Given the description of an element on the screen output the (x, y) to click on. 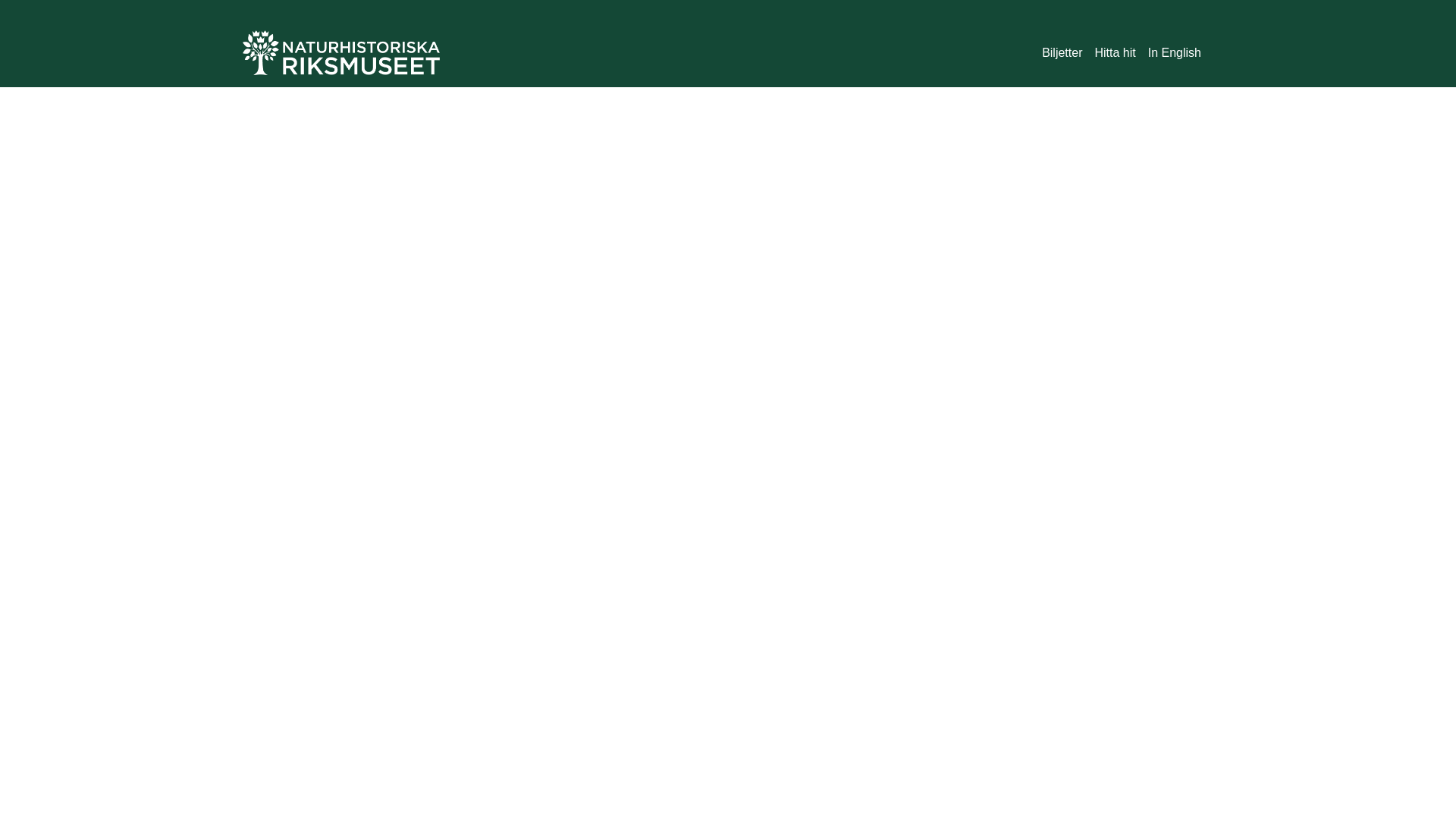
In English (1174, 53)
Hitta hit (1114, 53)
Biljetter (1061, 53)
